Given the description of an element on the screen output the (x, y) to click on. 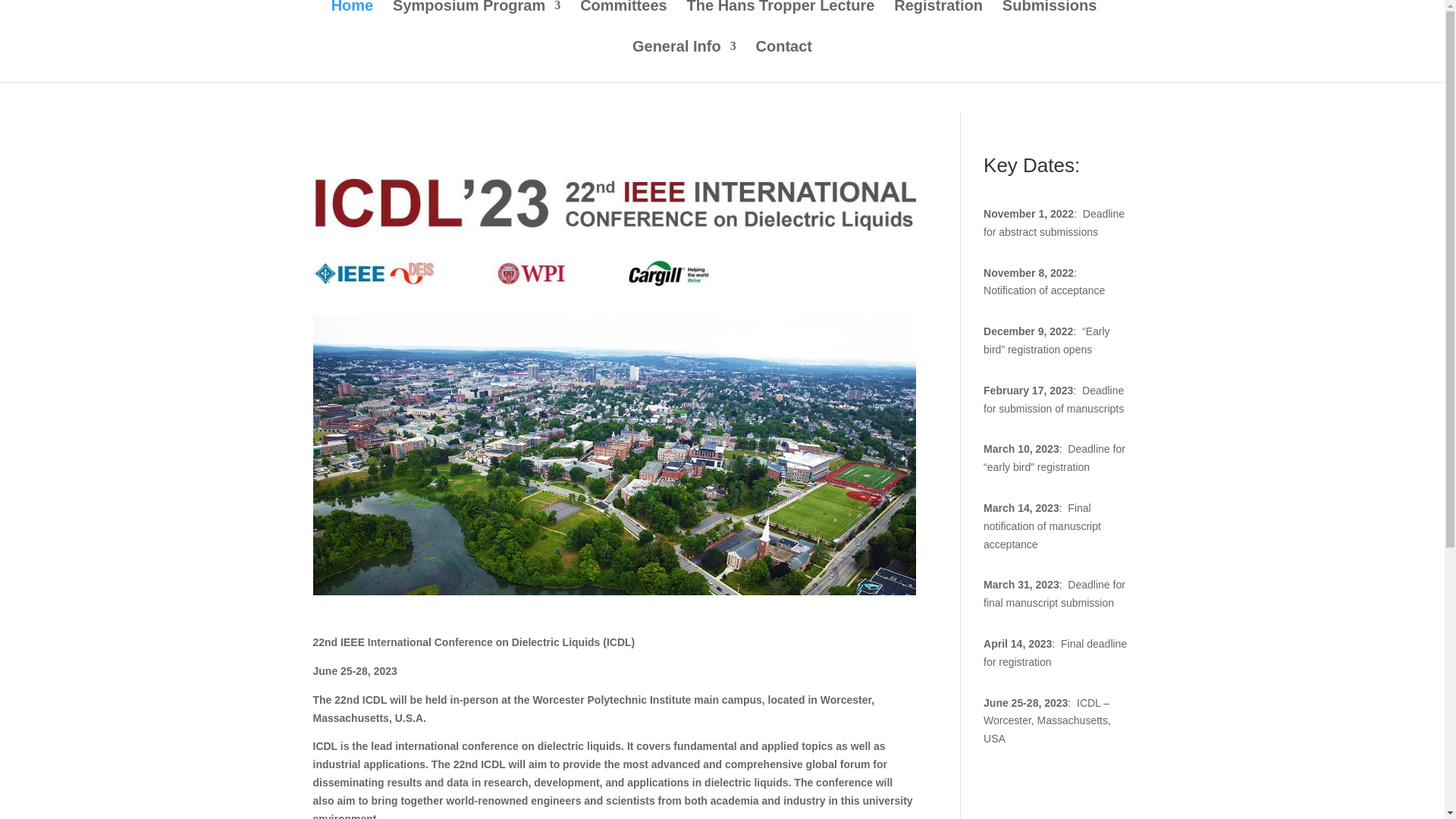
Submissions (1049, 20)
The Hans Tropper Lecture (781, 20)
Home (352, 20)
General Info (683, 60)
Contact (783, 60)
Committees (622, 20)
Symposium Program (476, 20)
Registration (937, 20)
